Given the description of an element on the screen output the (x, y) to click on. 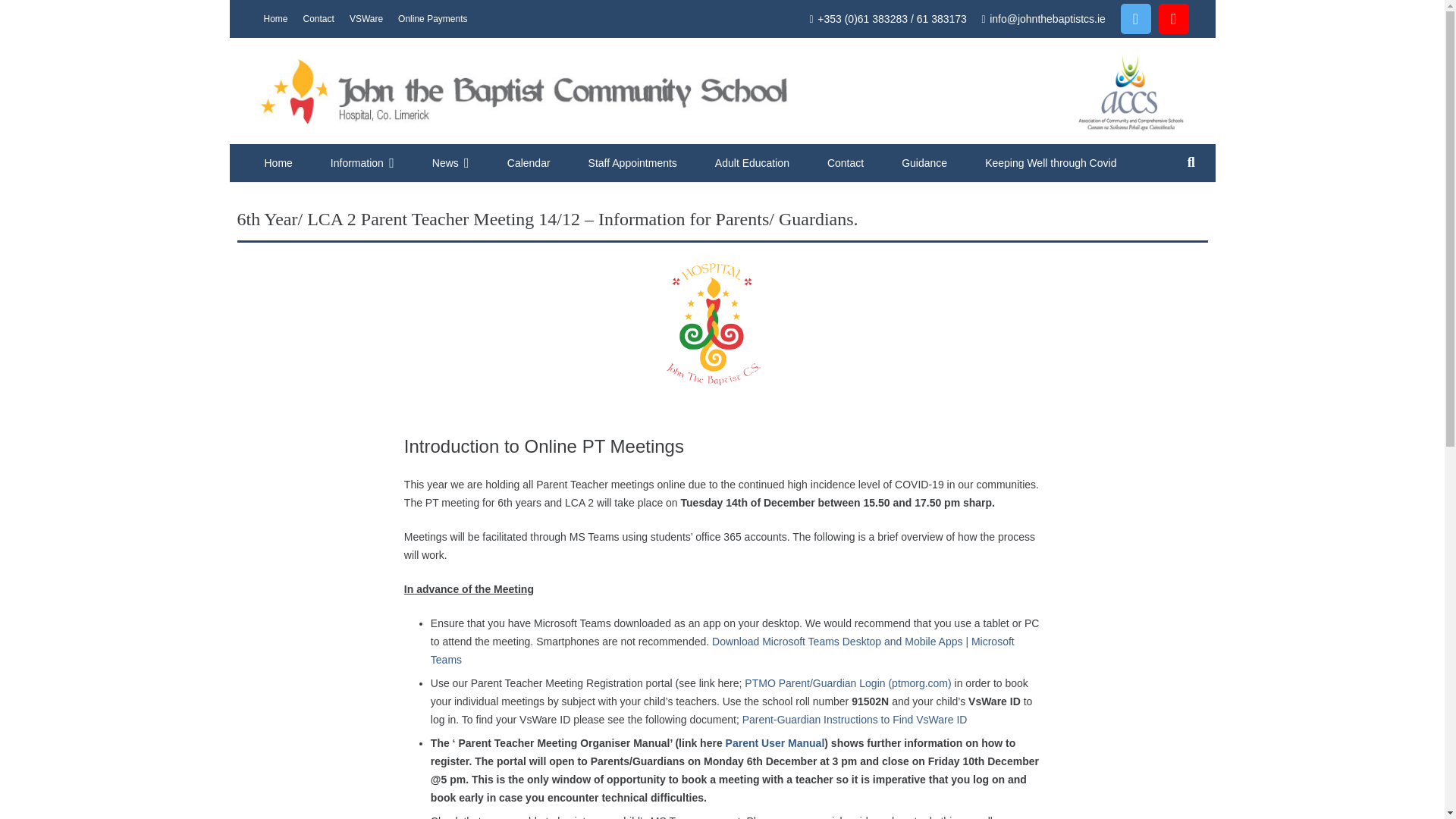
Contact (318, 18)
Twitter (1136, 19)
Online Payments (432, 18)
Home (278, 162)
News (450, 162)
VSWare (366, 18)
Information (362, 162)
YouTube (1173, 19)
Home (275, 18)
